Given the description of an element on the screen output the (x, y) to click on. 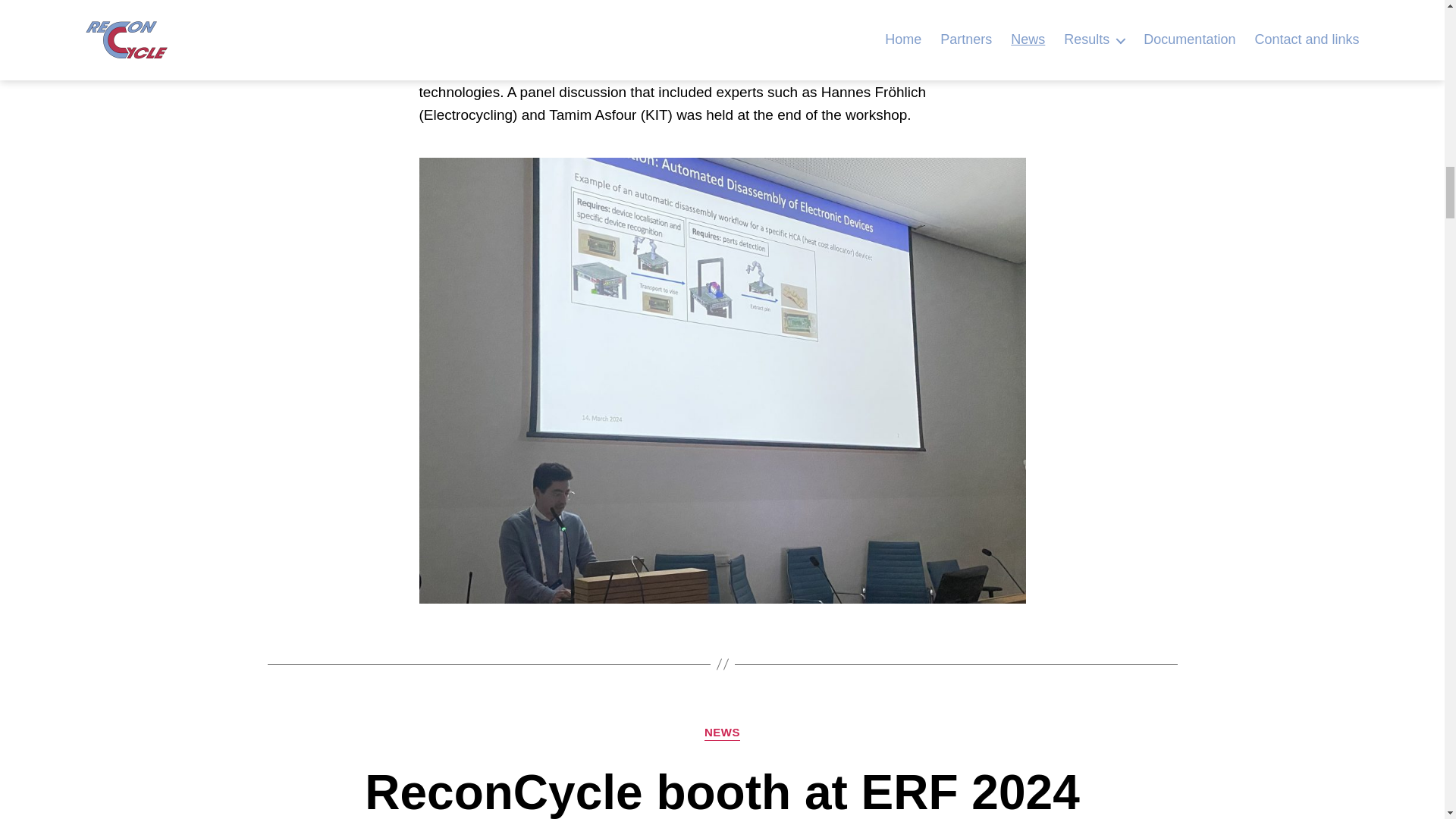
NEWS (721, 733)
